Given the description of an element on the screen output the (x, y) to click on. 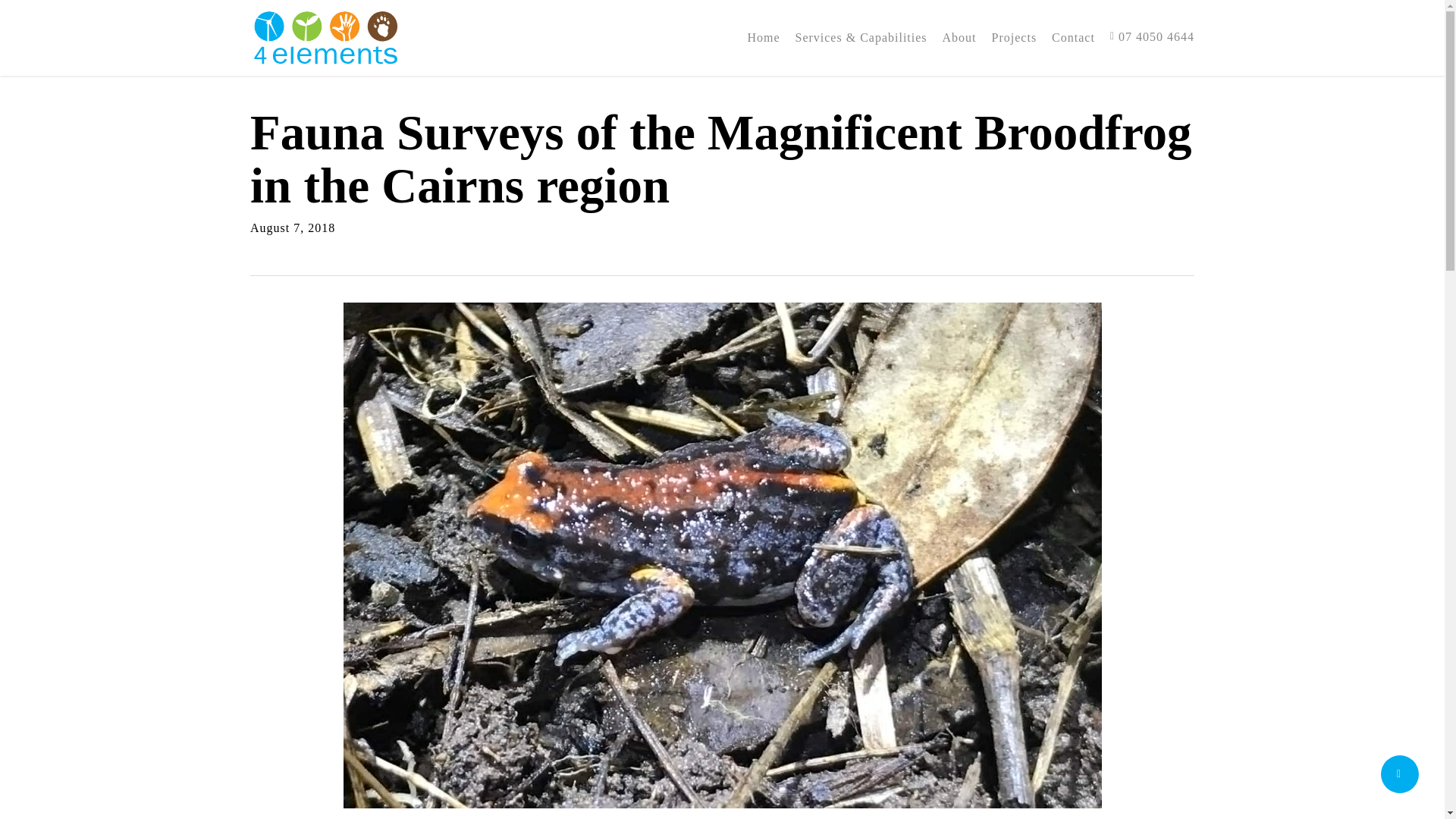
07 4050 4644 (1151, 37)
Contact (1072, 37)
About (959, 37)
Home (762, 37)
Projects (1013, 37)
